Given the description of an element on the screen output the (x, y) to click on. 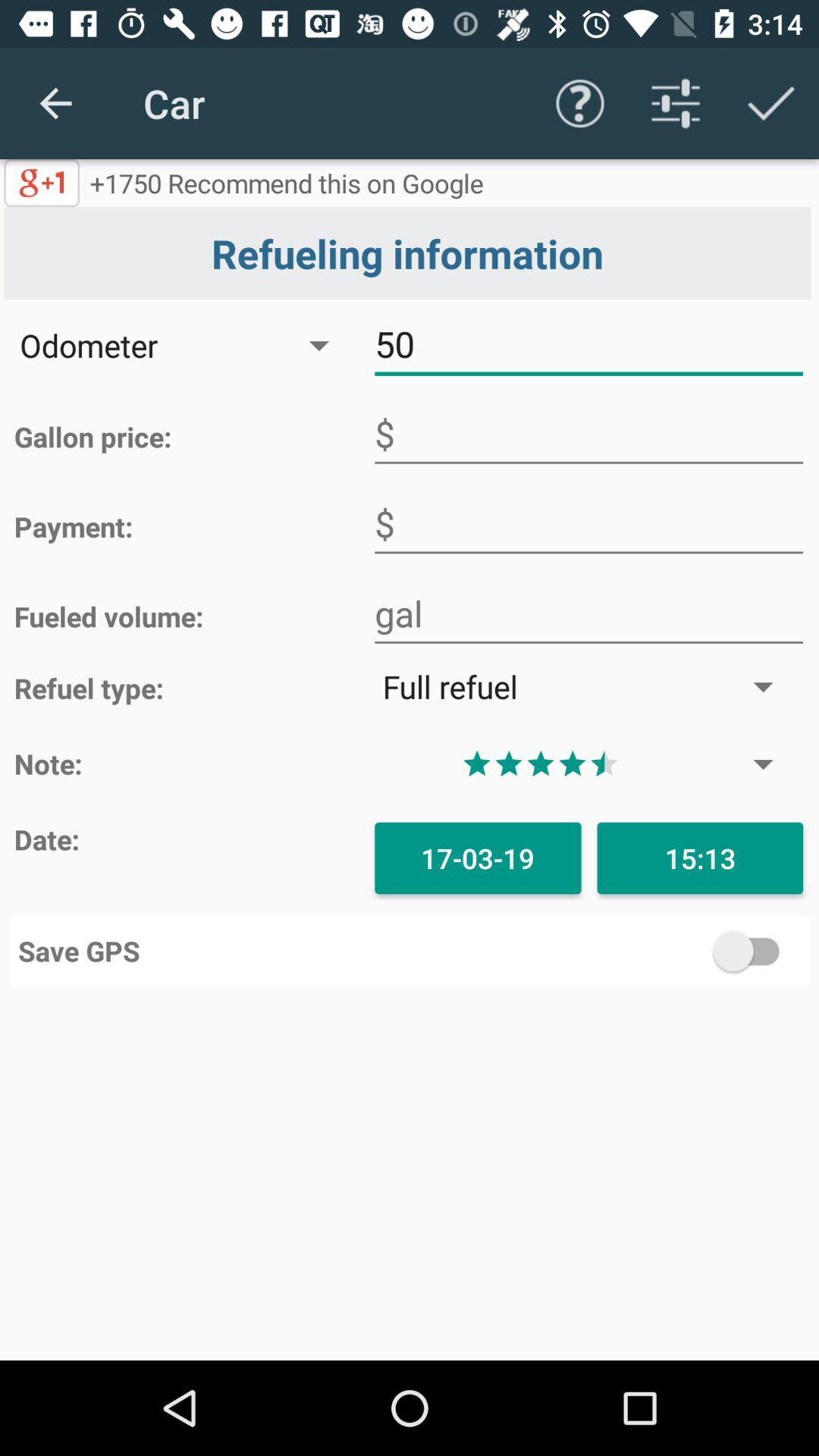
launch the icon to the left of the 15:13 icon (477, 858)
